Given the description of an element on the screen output the (x, y) to click on. 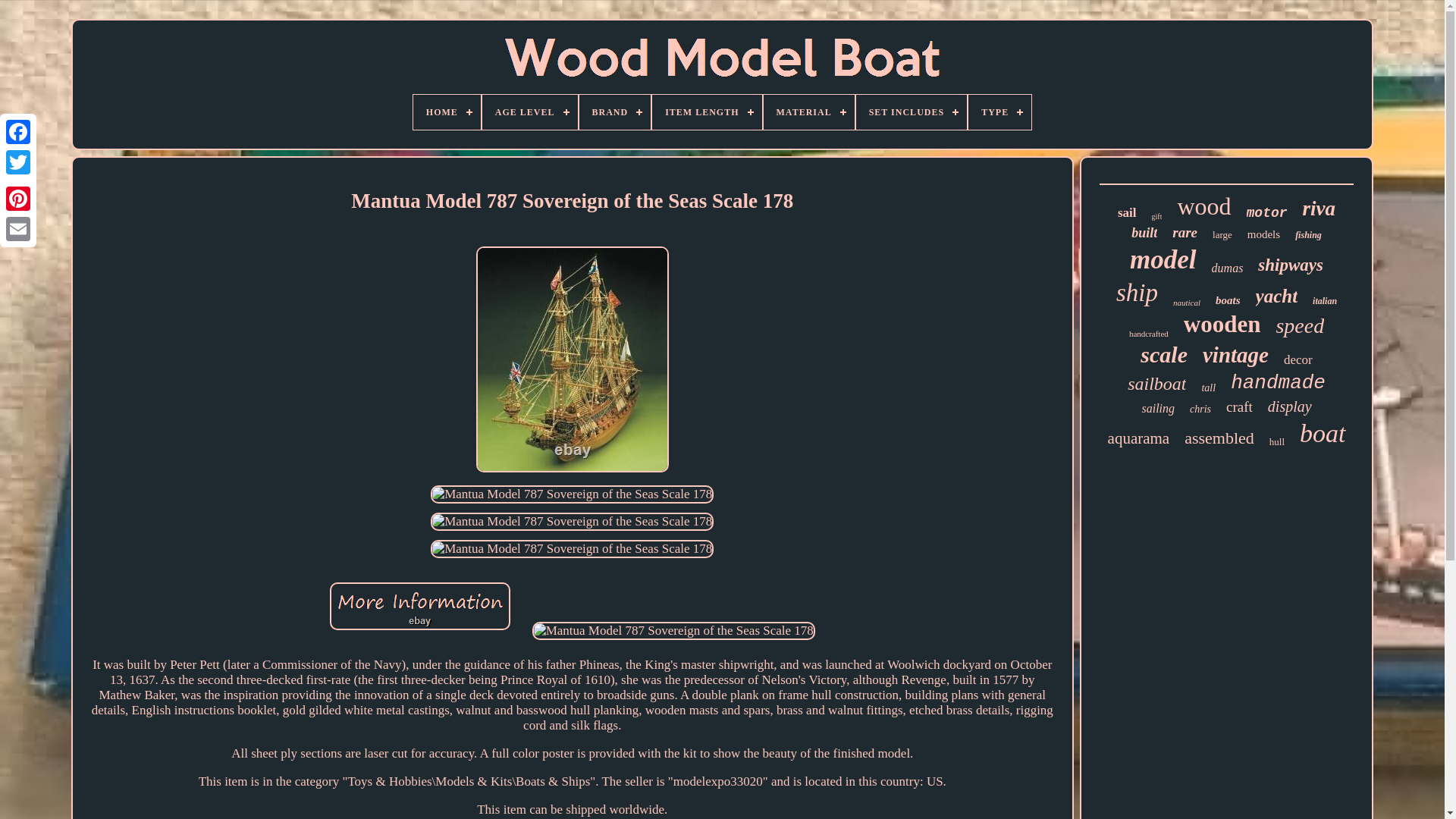
Mantua Model 787 Sovereign of the Seas Scale 178 (571, 494)
Mantua Model 787 Sovereign of the Seas Scale 178 (571, 548)
HOME (446, 112)
BRAND (614, 112)
Mantua Model 787 Sovereign of the Seas Scale 178 (420, 605)
Mantua Model 787 Sovereign of the Seas Scale 178 (571, 521)
AGE LEVEL (529, 112)
Mantua Model 787 Sovereign of the Seas Scale 178 (673, 630)
